Given the description of an element on the screen output the (x, y) to click on. 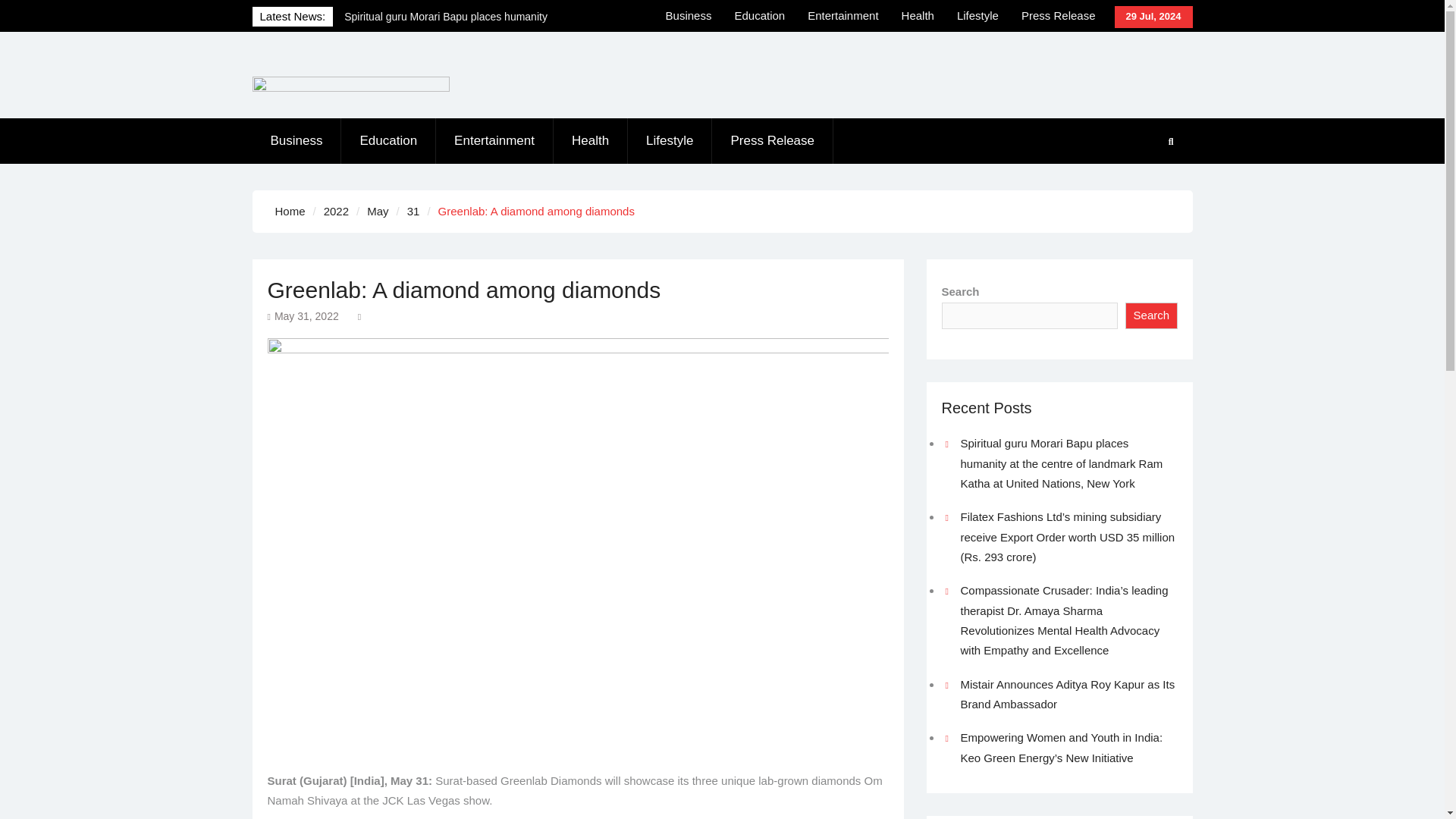
Entertainment (494, 140)
Press Release (1058, 15)
31 (413, 210)
Lifestyle (977, 15)
Education (759, 15)
Home (289, 210)
Business (688, 15)
Education (387, 140)
May 31, 2022 (307, 316)
Business (295, 140)
2022 (336, 210)
Press Release (771, 140)
Health (590, 140)
Entertainment (842, 15)
